Given the description of an element on the screen output the (x, y) to click on. 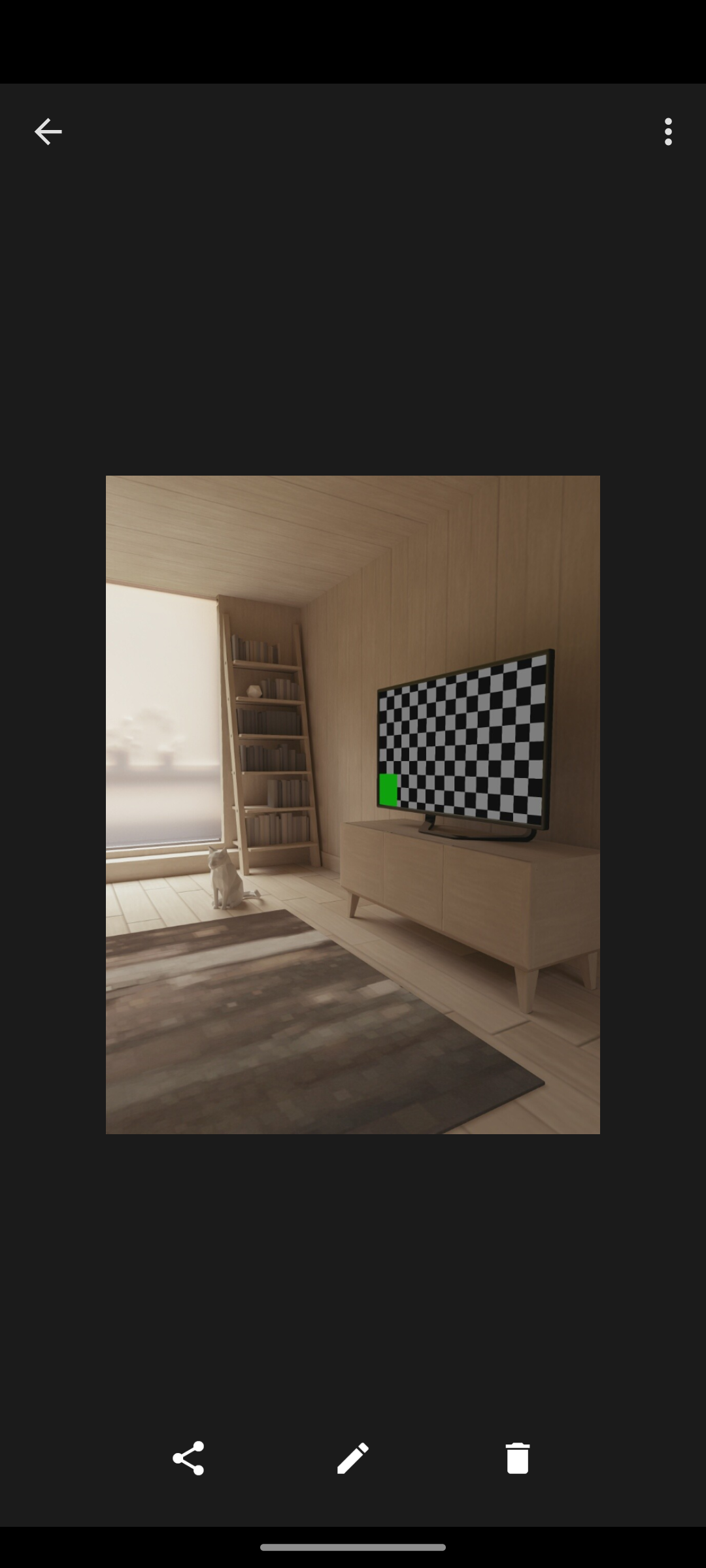
Navigate up (48, 131)
More options (671, 131)
Share (187, 1458)
Edit (352, 1458)
Delete (517, 1458)
